Given the description of an element on the screen output the (x, y) to click on. 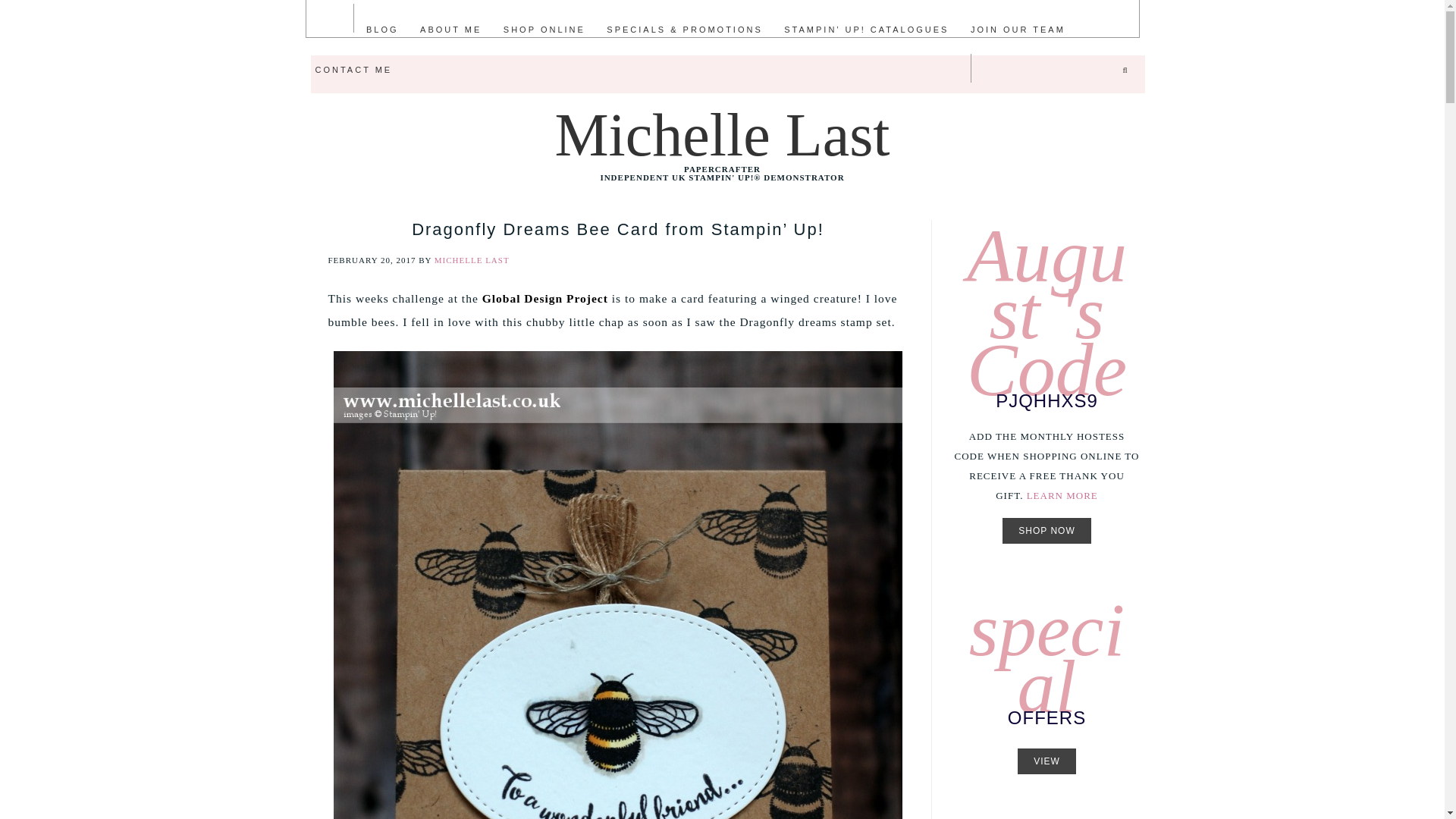
Global Design Project (544, 297)
ABOUT ME (450, 29)
Michelle Last (721, 134)
MICHELLE LAST (471, 259)
JOIN OUR TEAM (1017, 29)
SHOP ONLINE (544, 29)
CONTACT ME (353, 69)
BLOG (381, 29)
